Given the description of an element on the screen output the (x, y) to click on. 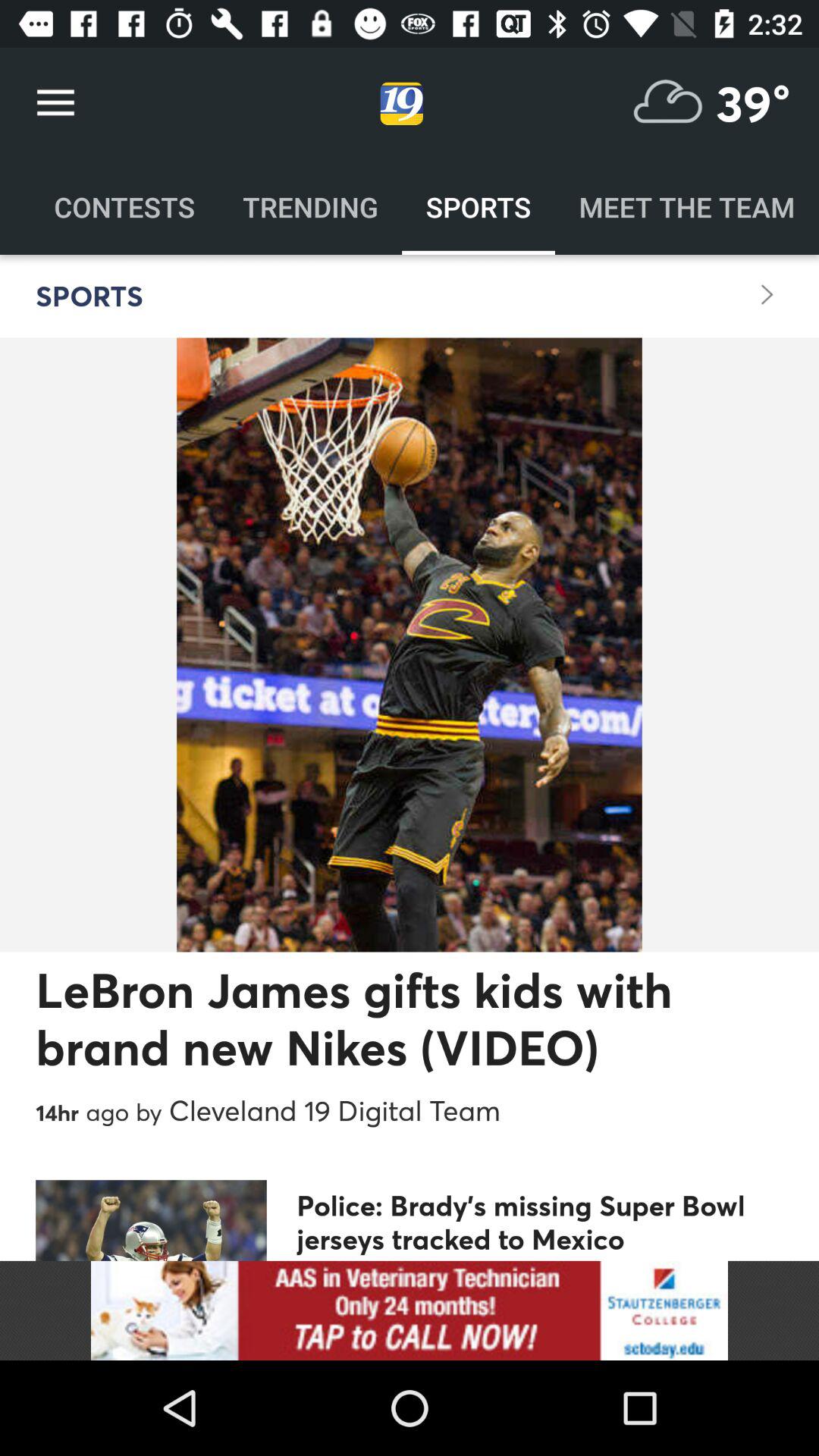
this would take you to an advertisement (409, 1310)
